Given the description of an element on the screen output the (x, y) to click on. 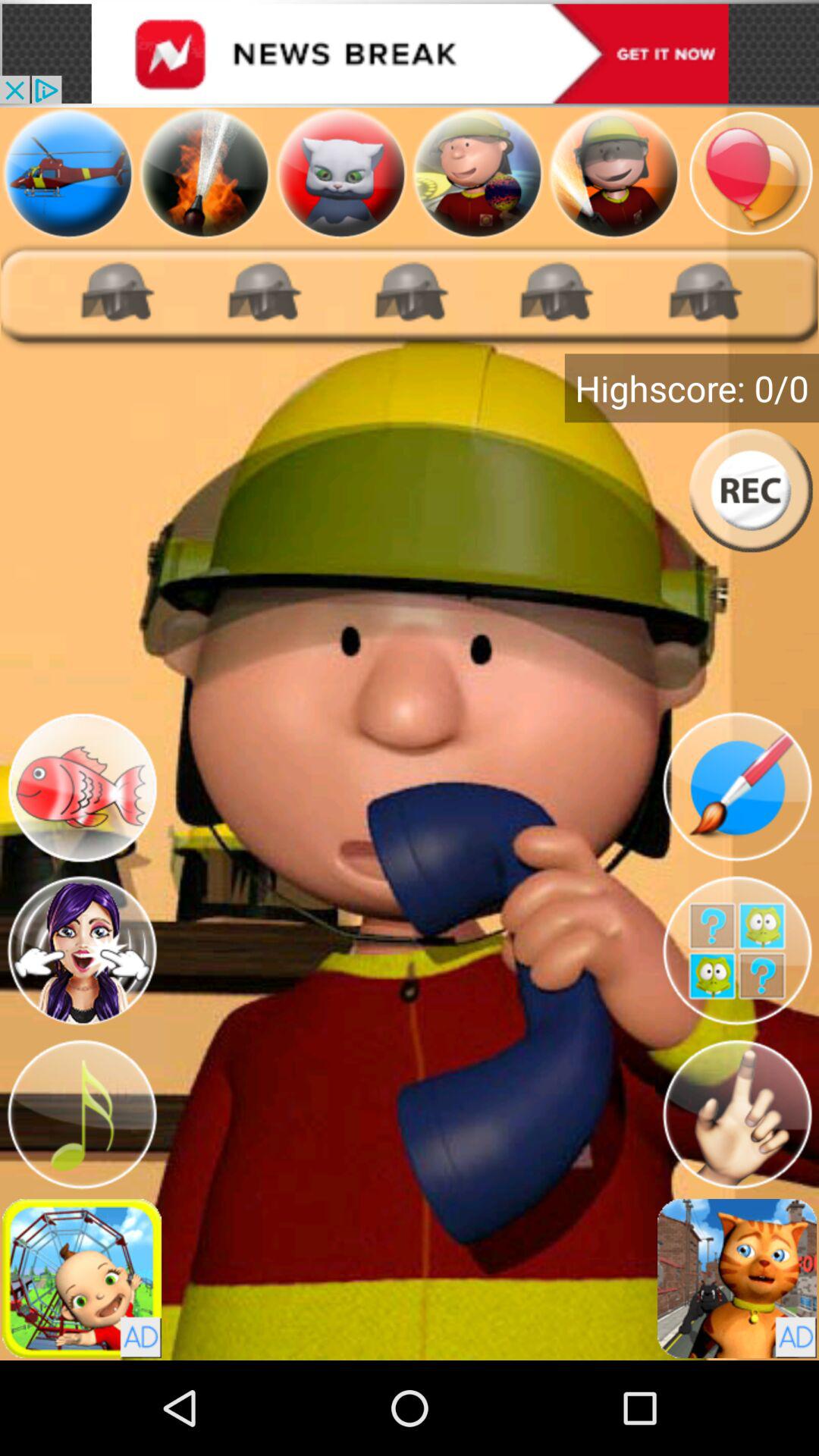
view advertisement (81, 1278)
